Given the description of an element on the screen output the (x, y) to click on. 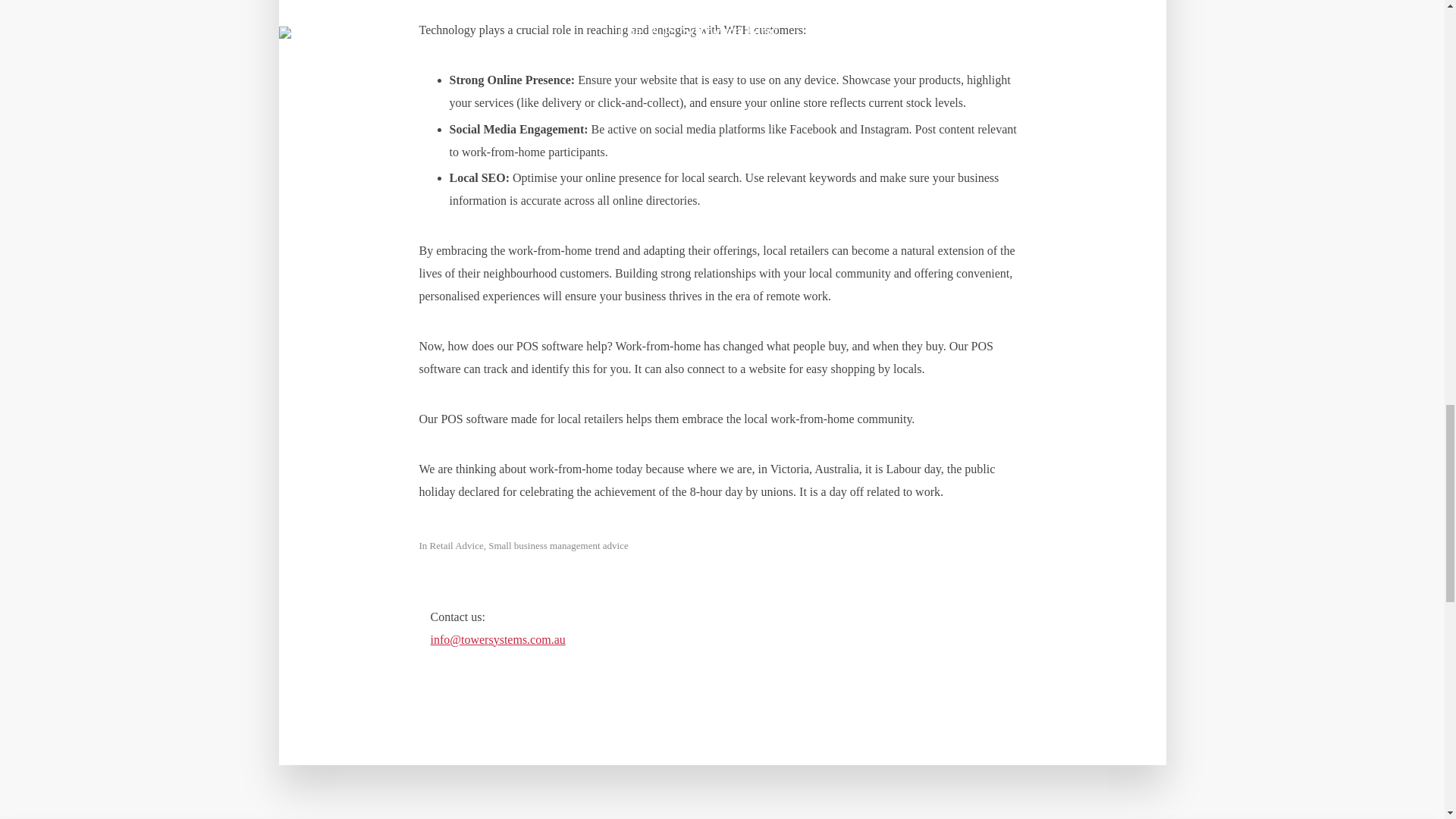
Retail Advice (456, 546)
Retail Advice (456, 546)
Small business management advice (557, 546)
Small business management advice (557, 546)
